Given the description of an element on the screen output the (x, y) to click on. 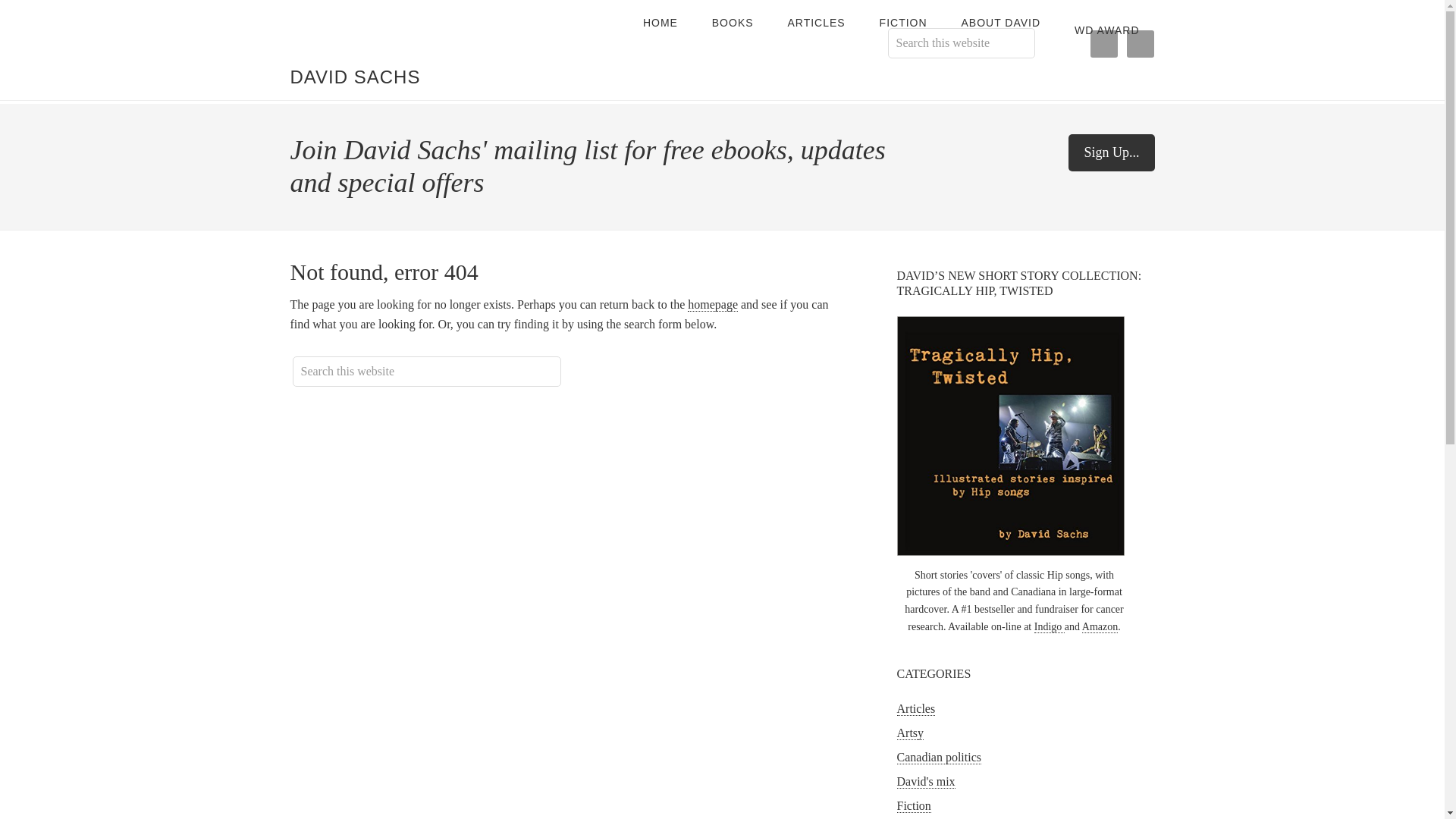
DAVID SACHS (354, 76)
Fiction (913, 806)
Articles (915, 708)
ARTICLES (815, 22)
HOME (660, 22)
Sign Up... (1111, 152)
Artsy (909, 733)
